Given the description of an element on the screen output the (x, y) to click on. 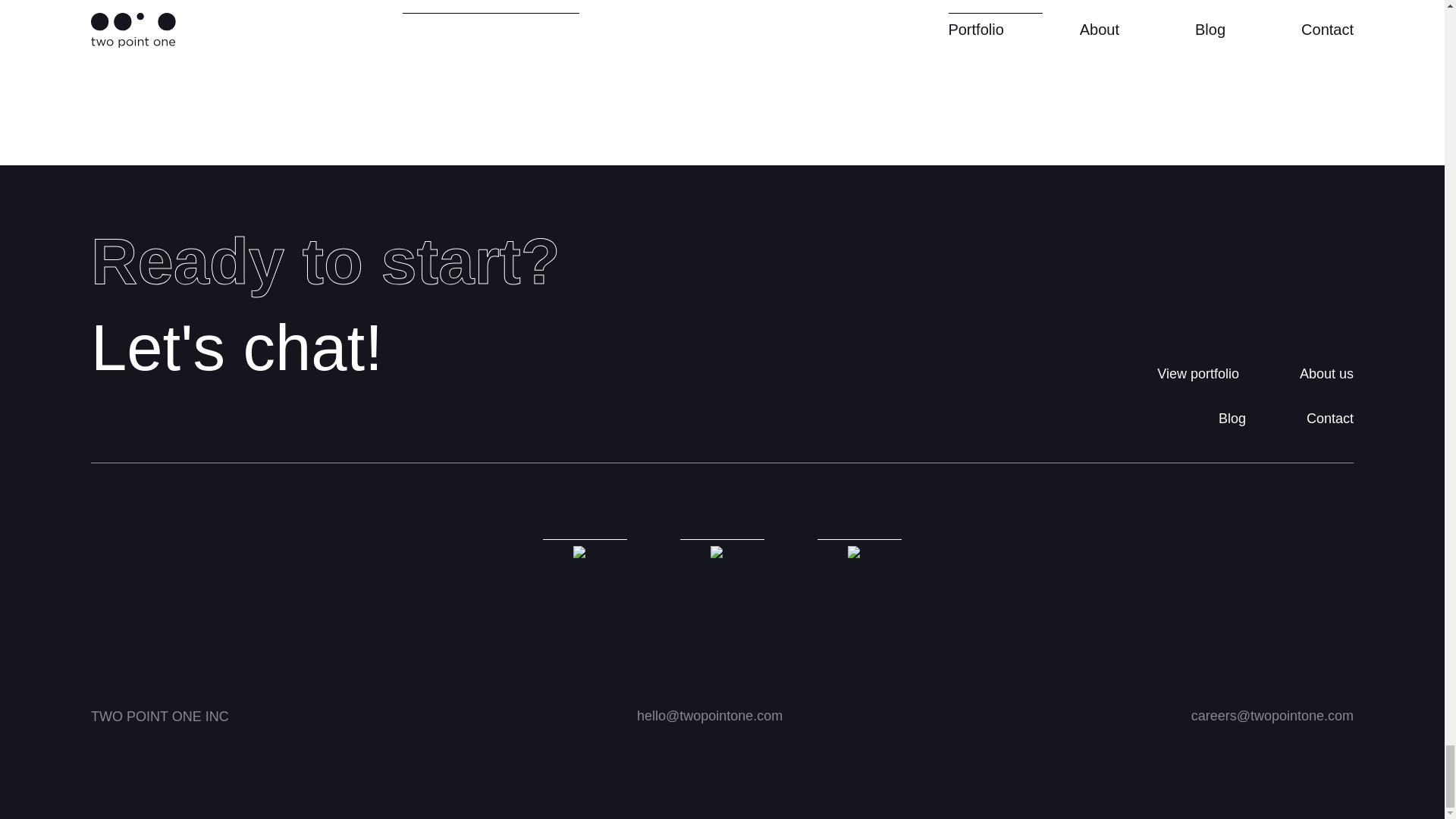
TWO POINT ONE INC (159, 716)
Contact (1330, 419)
View portfolio (1198, 374)
Blog (1232, 419)
About us (325, 305)
Next (1327, 374)
Previous (995, 6)
